Given the description of an element on the screen output the (x, y) to click on. 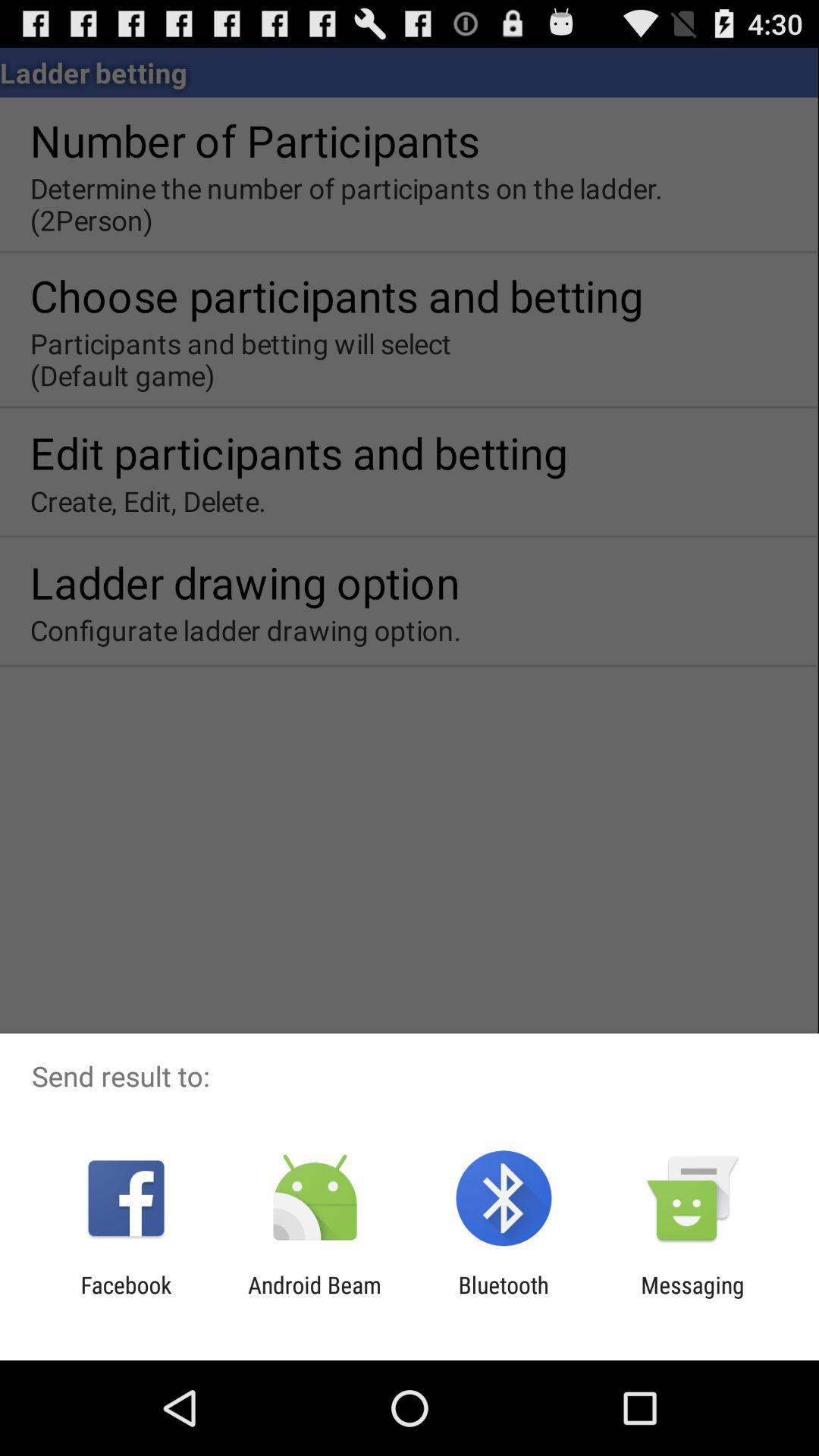
click icon next to android beam item (125, 1298)
